Given the description of an element on the screen output the (x, y) to click on. 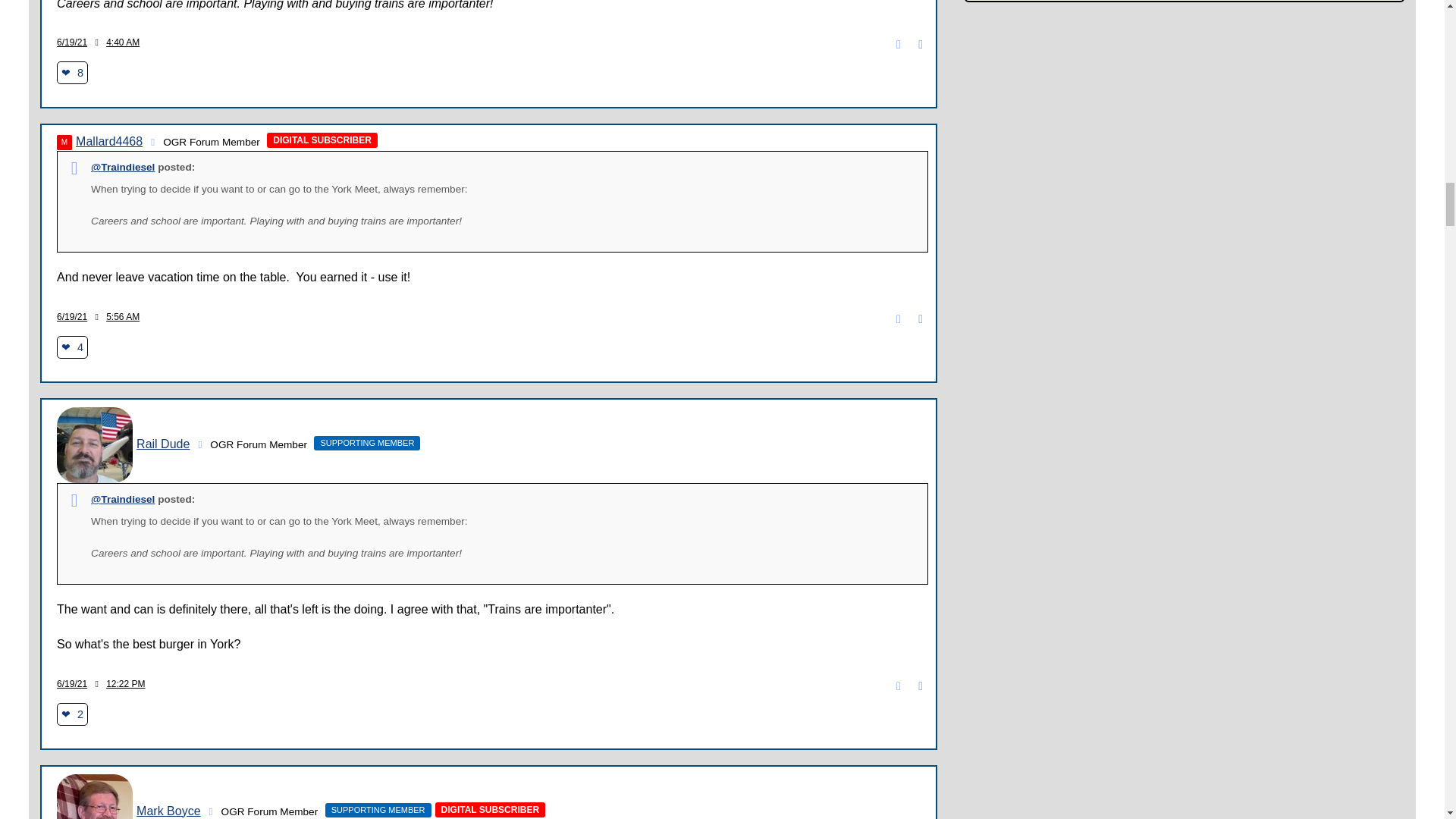
M (63, 142)
